Given the description of an element on the screen output the (x, y) to click on. 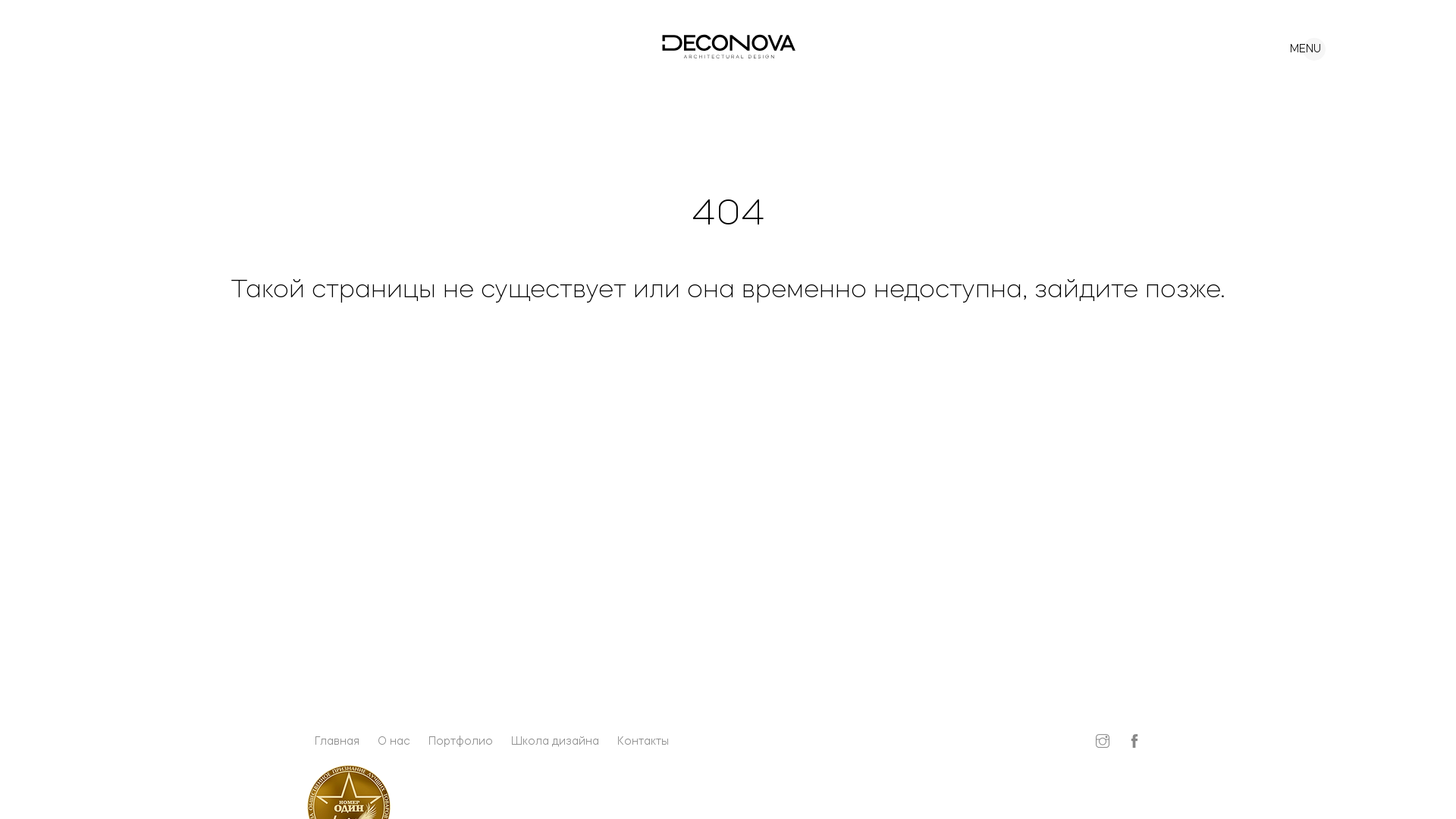
MENU Element type: text (1295, 44)
